Given the description of an element on the screen output the (x, y) to click on. 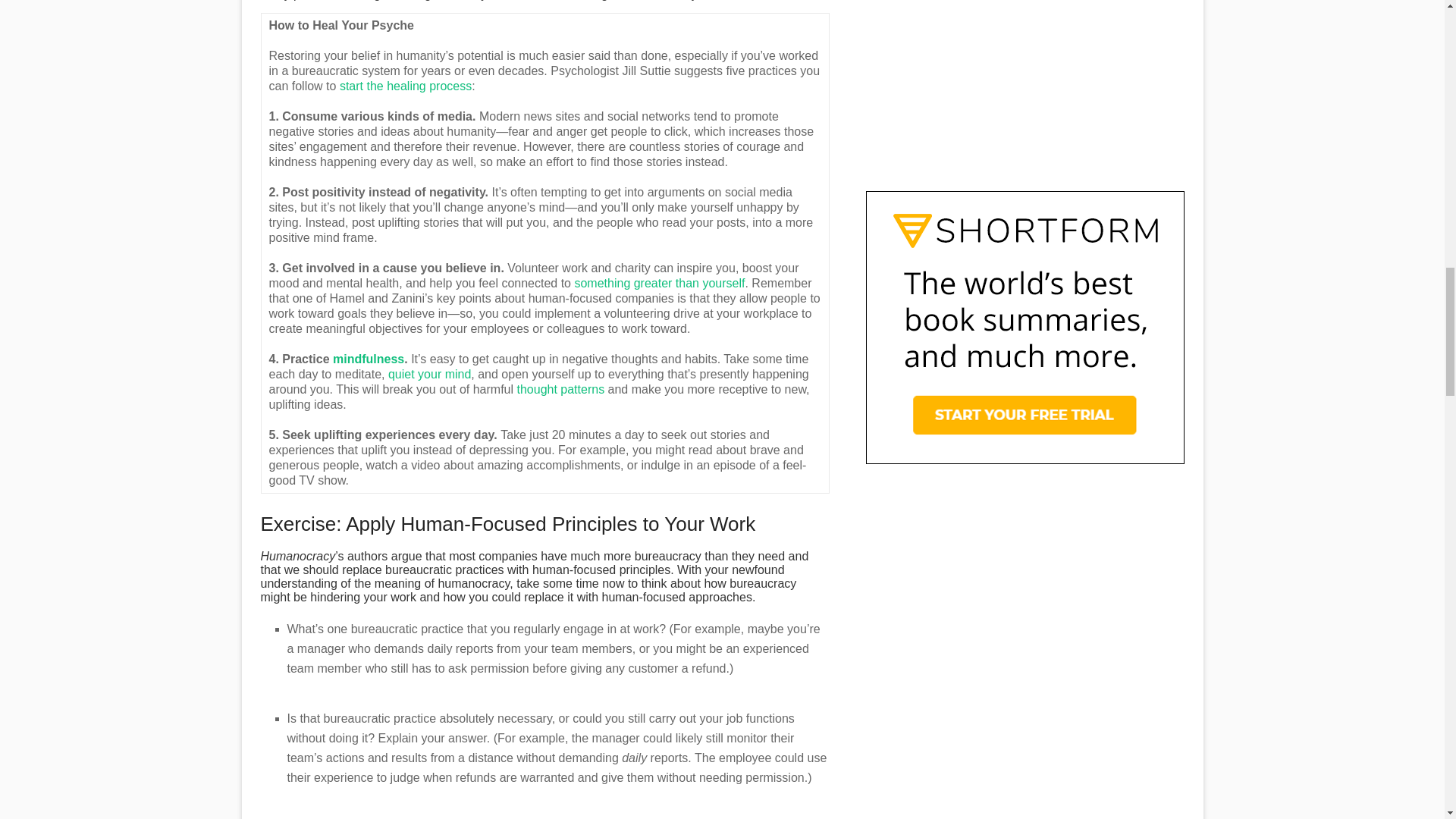
quiet your mind (429, 373)
something greater than yourself (658, 282)
thought patterns (560, 389)
mindfulness (368, 358)
start the healing process (405, 85)
